Given the description of an element on the screen output the (x, y) to click on. 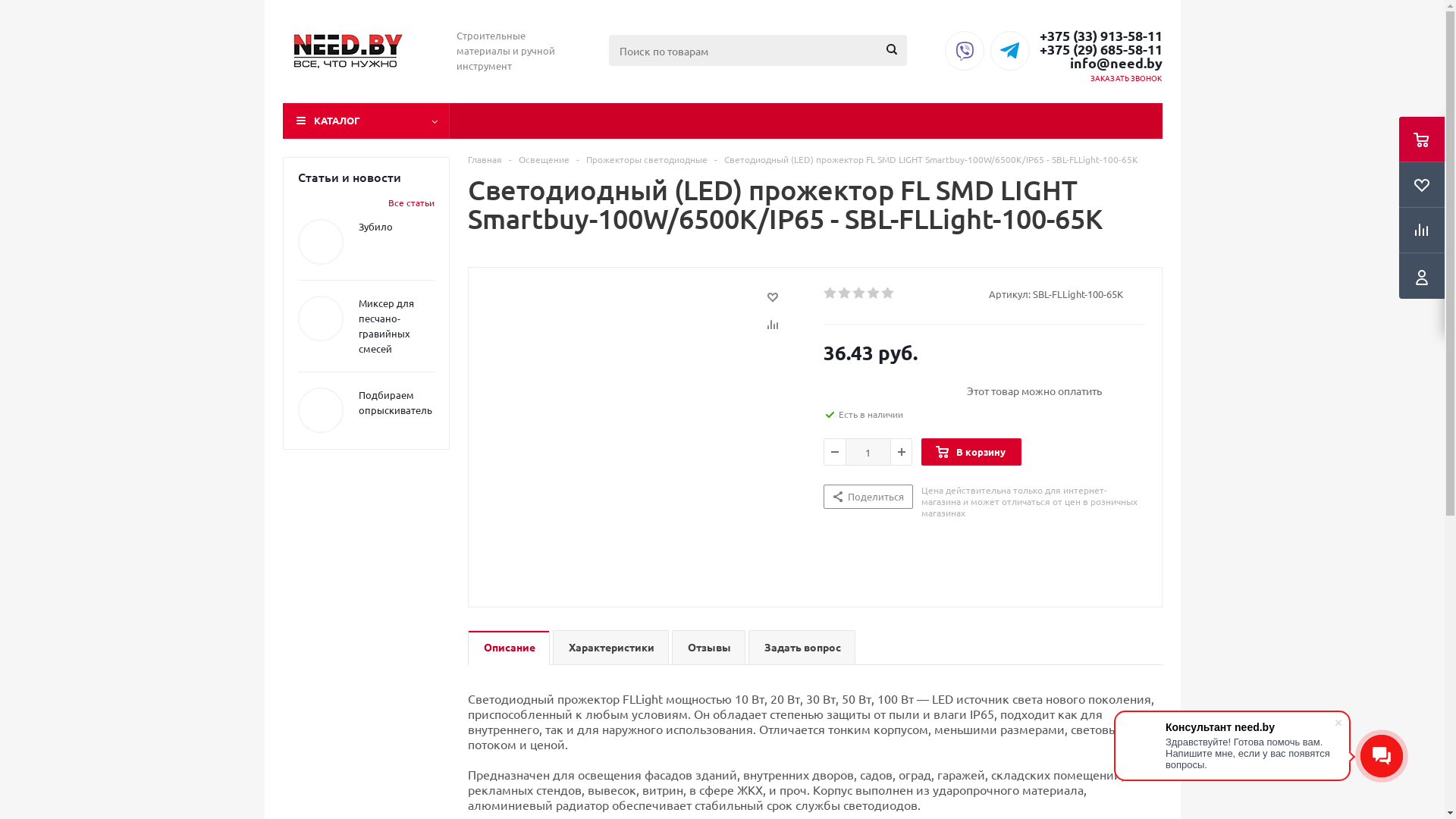
2 Element type: hover (844, 293)
info@need.by Element type: text (1099, 62)
1 Element type: hover (830, 293)
4 Element type: hover (873, 293)
5 Element type: hover (888, 293)
+375 (29) 685-58-11 Element type: text (1099, 49)
3 Element type: hover (859, 293)
SBL-FLLight-100-65K_main Element type: hover (641, 438)
+375 (33) 913-58-11 Element type: text (1099, 35)
